Given the description of an element on the screen output the (x, y) to click on. 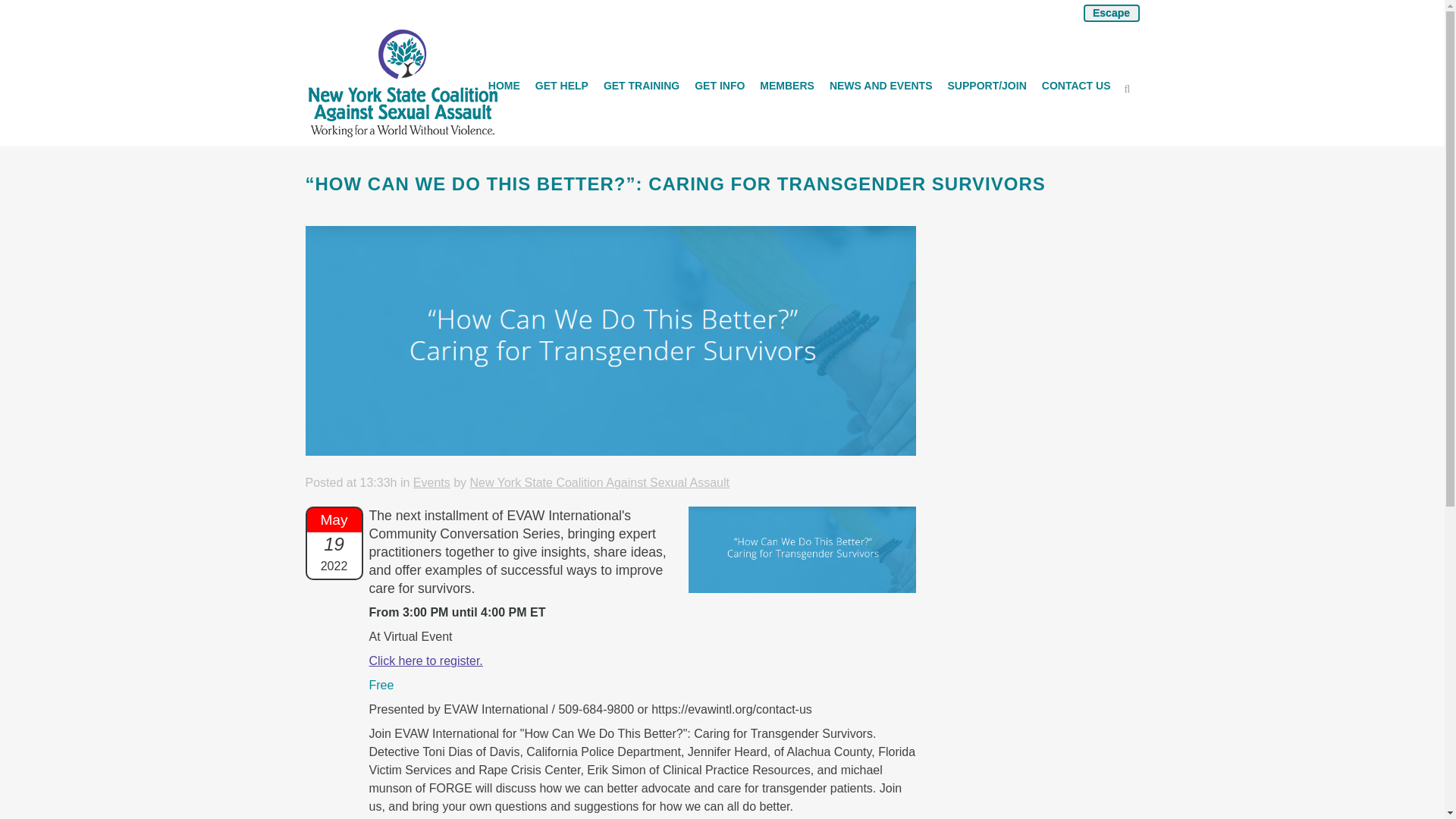
Escape (1110, 13)
